Given the description of an element on the screen output the (x, y) to click on. 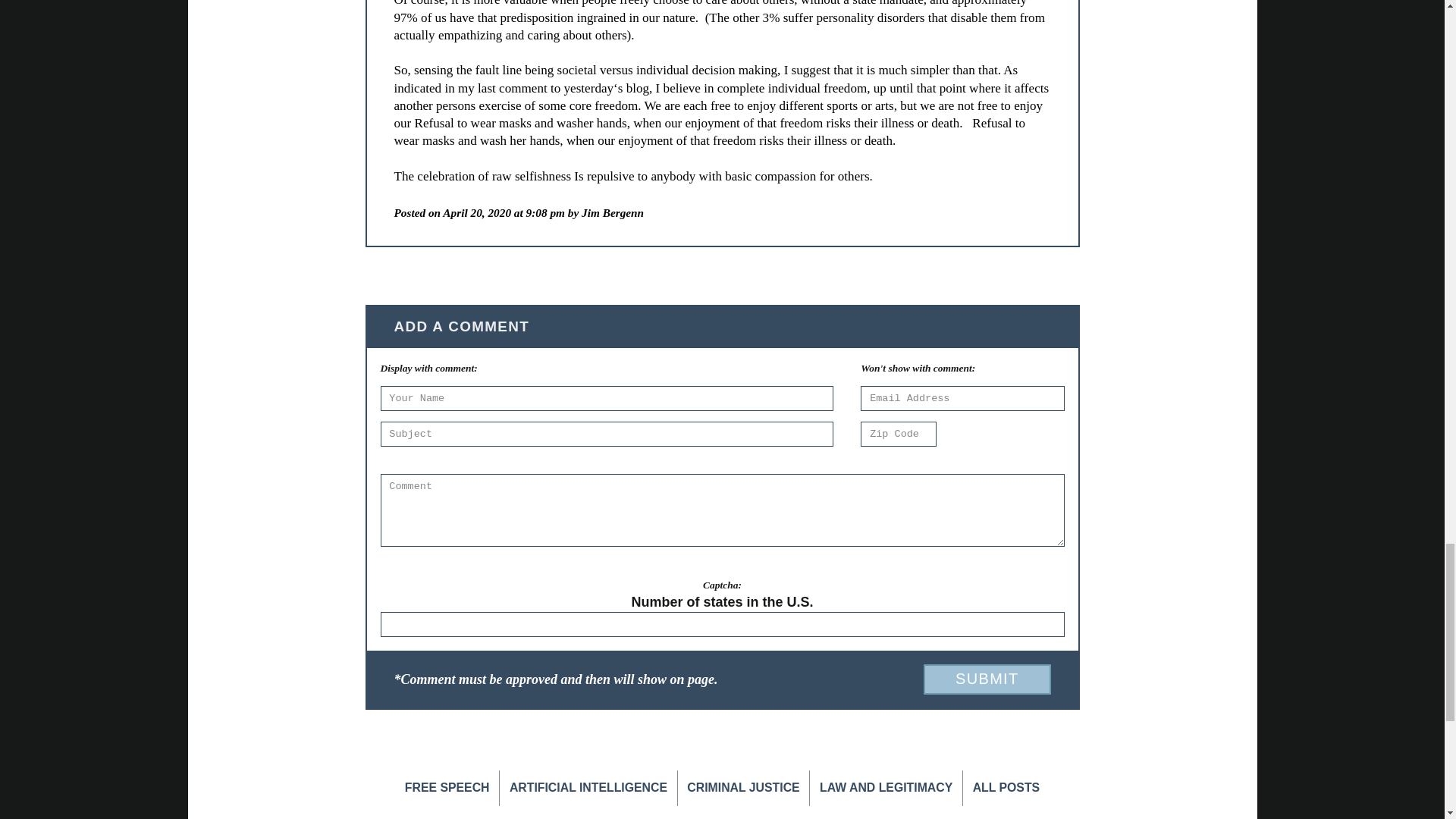
FREE SPEECH (446, 787)
Email Address (962, 398)
Free Speech (446, 787)
Are you human? (721, 601)
CRIMINAL JUSTICE (743, 787)
Your Name (607, 398)
Comment (722, 510)
Criminal Justice (743, 787)
Artificial Intelligence (588, 787)
Submit (986, 679)
